Given the description of an element on the screen output the (x, y) to click on. 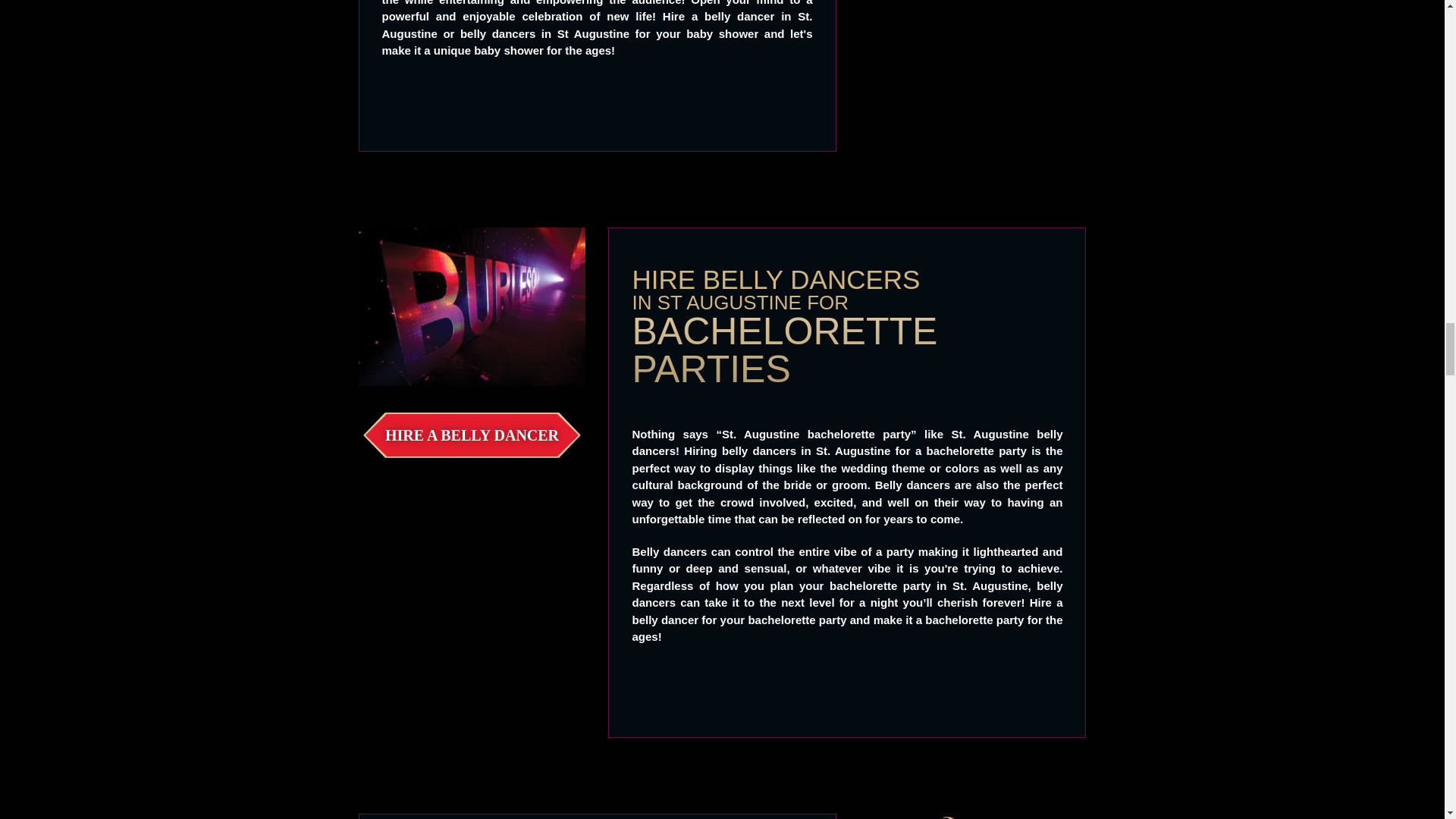
HIRE A BELLY DANCER (471, 435)
